Given the description of an element on the screen output the (x, y) to click on. 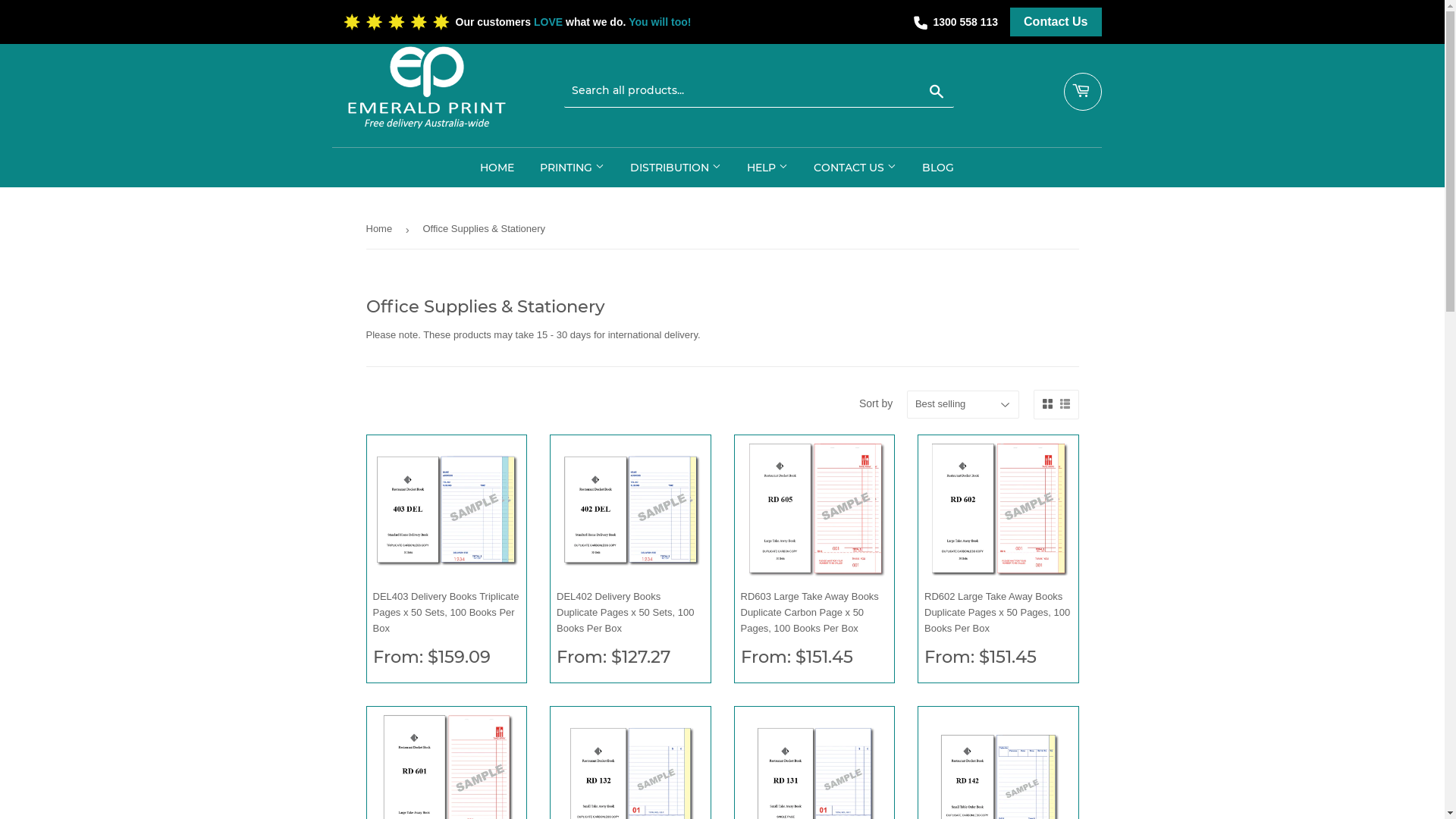
Our customers LOVE what we do. You will too! Element type: text (531, 21)
CONTACT US Element type: text (854, 167)
Search Element type: text (936, 91)
BLOG Element type: text (937, 167)
HELP Element type: text (767, 167)
Home Element type: text (381, 229)
1300 558 113 Element type: text (964, 21)
Contact Us Element type: text (1055, 21)
DISTRIBUTION Element type: text (675, 167)
HOME Element type: text (496, 167)
List view Element type: hover (1065, 403)
PRINTING Element type: text (571, 167)
Grid view Element type: hover (1046, 403)
